Given the description of an element on the screen output the (x, y) to click on. 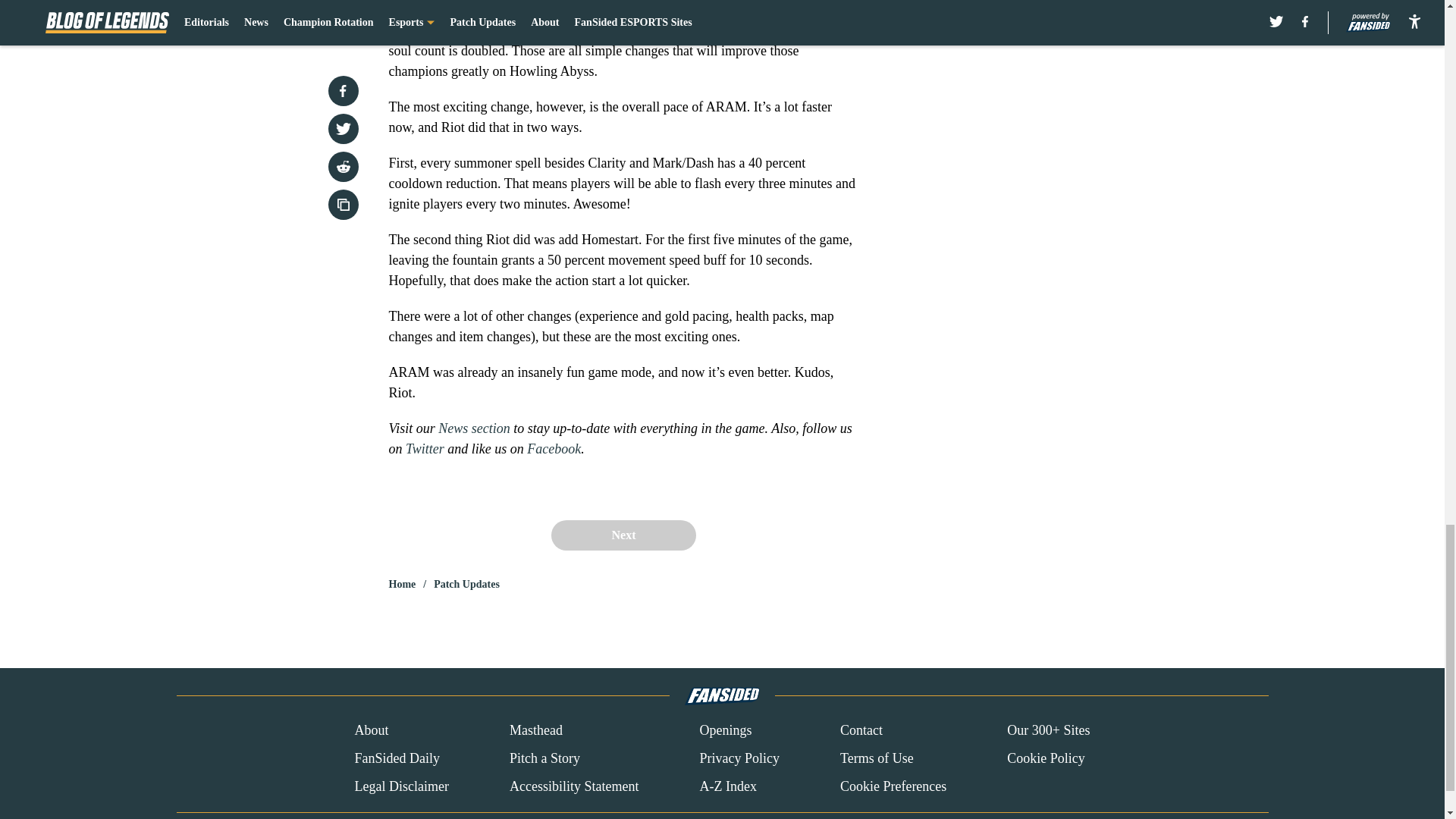
Terms of Use (877, 758)
Contact (861, 729)
Next (622, 534)
Privacy Policy (738, 758)
Twitter (425, 447)
FanSided Daily (396, 758)
Patch Updates (466, 584)
Facebook (553, 447)
About (370, 729)
Openings (724, 729)
Masthead (535, 729)
Pitch a Story (544, 758)
Home (401, 584)
News section (474, 427)
